Given the description of an element on the screen output the (x, y) to click on. 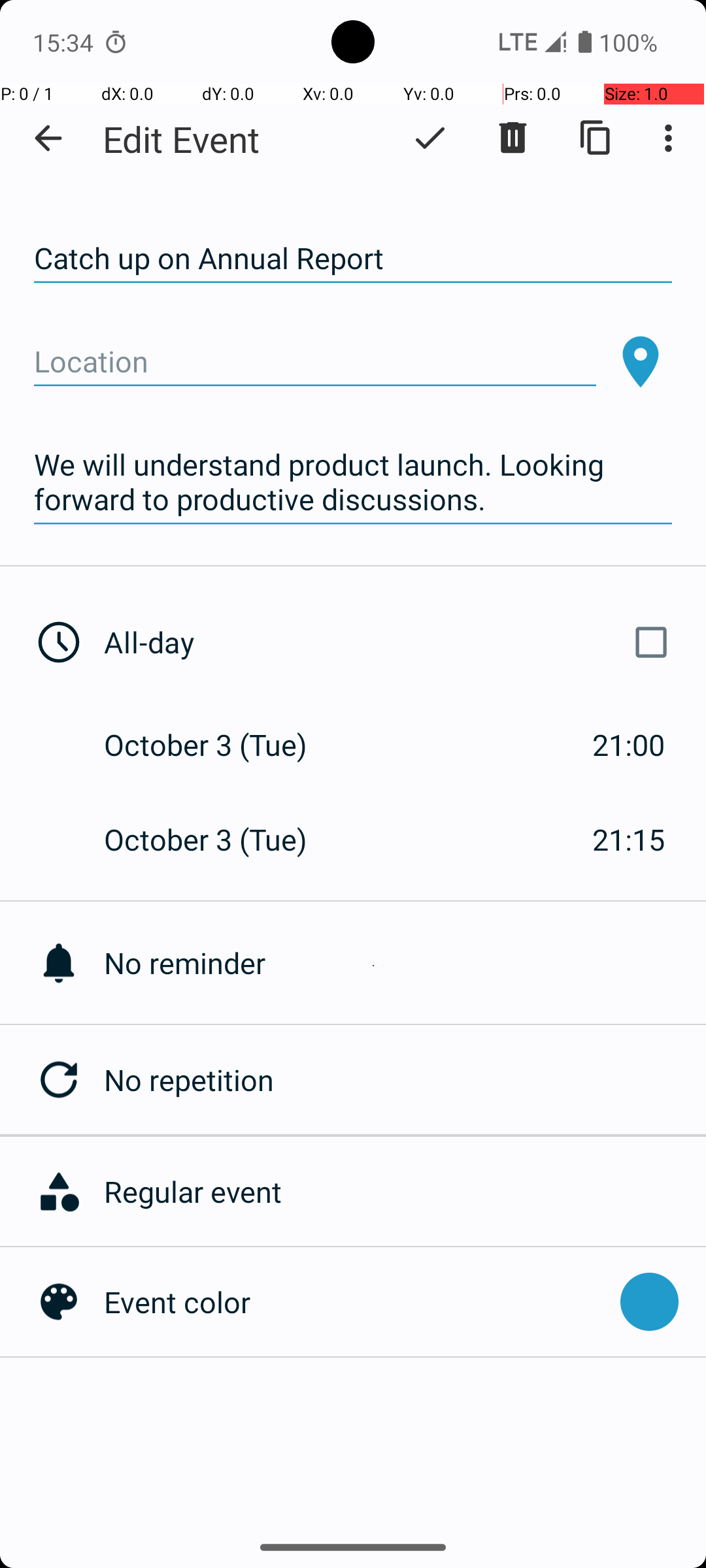
We will understand product launch. Looking forward to productive discussions. Element type: android.widget.EditText (352, 482)
October 3 (Tue) Element type: android.widget.TextView (219, 744)
21:00 Element type: android.widget.TextView (628, 744)
21:15 Element type: android.widget.TextView (628, 838)
